Given the description of an element on the screen output the (x, y) to click on. 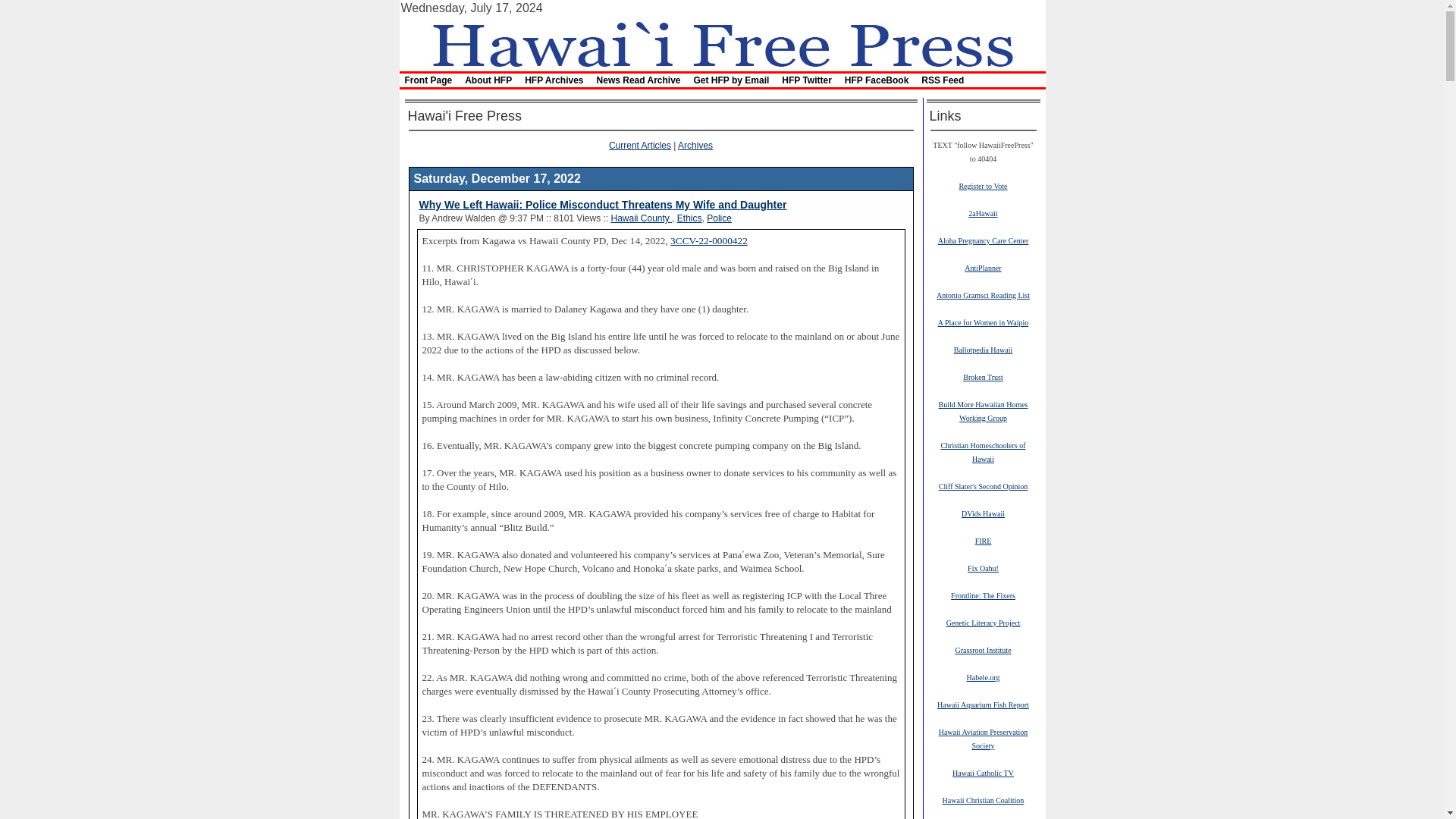
Police (719, 217)
Christian Homeschoolers of Hawaii (982, 451)
Aloha Pregnancy Care Center (983, 240)
Fix Oahu! (983, 567)
DVids Hawaii (982, 512)
Register to Vote (982, 185)
Hawaii Aquarium Fish Report (983, 704)
Antonio Gramsci Reading List (982, 294)
3CCV-22-0000422 (708, 240)
Hawaii Aviation Preservation Society (983, 738)
Hawaii Free Press (721, 42)
AntiPlanner (982, 267)
Broken Trust (982, 376)
Cliff Slater's Second Opinion (983, 485)
